Given the description of an element on the screen output the (x, y) to click on. 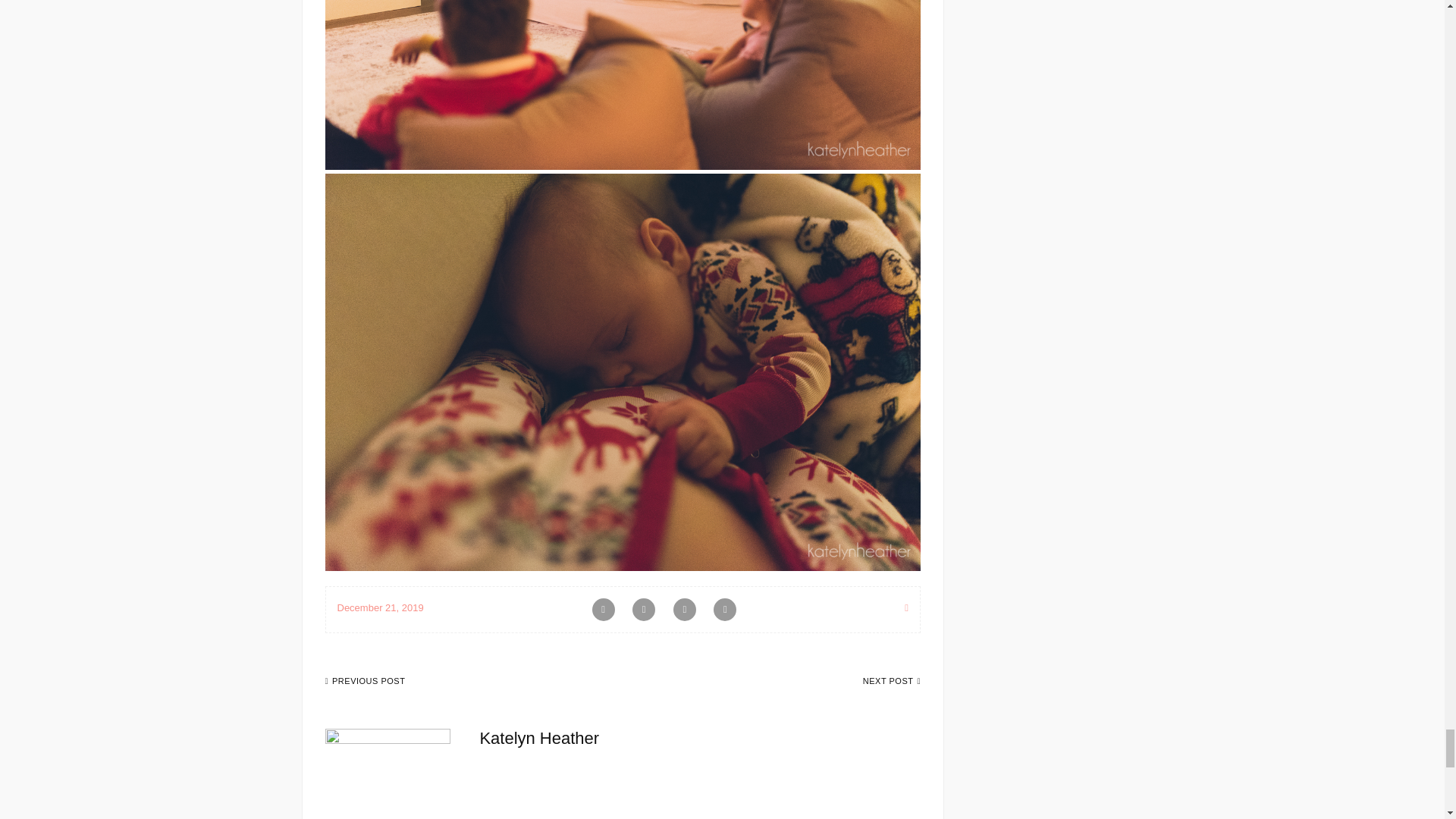
Posts by Katelyn Heather (538, 737)
